Given the description of an element on the screen output the (x, y) to click on. 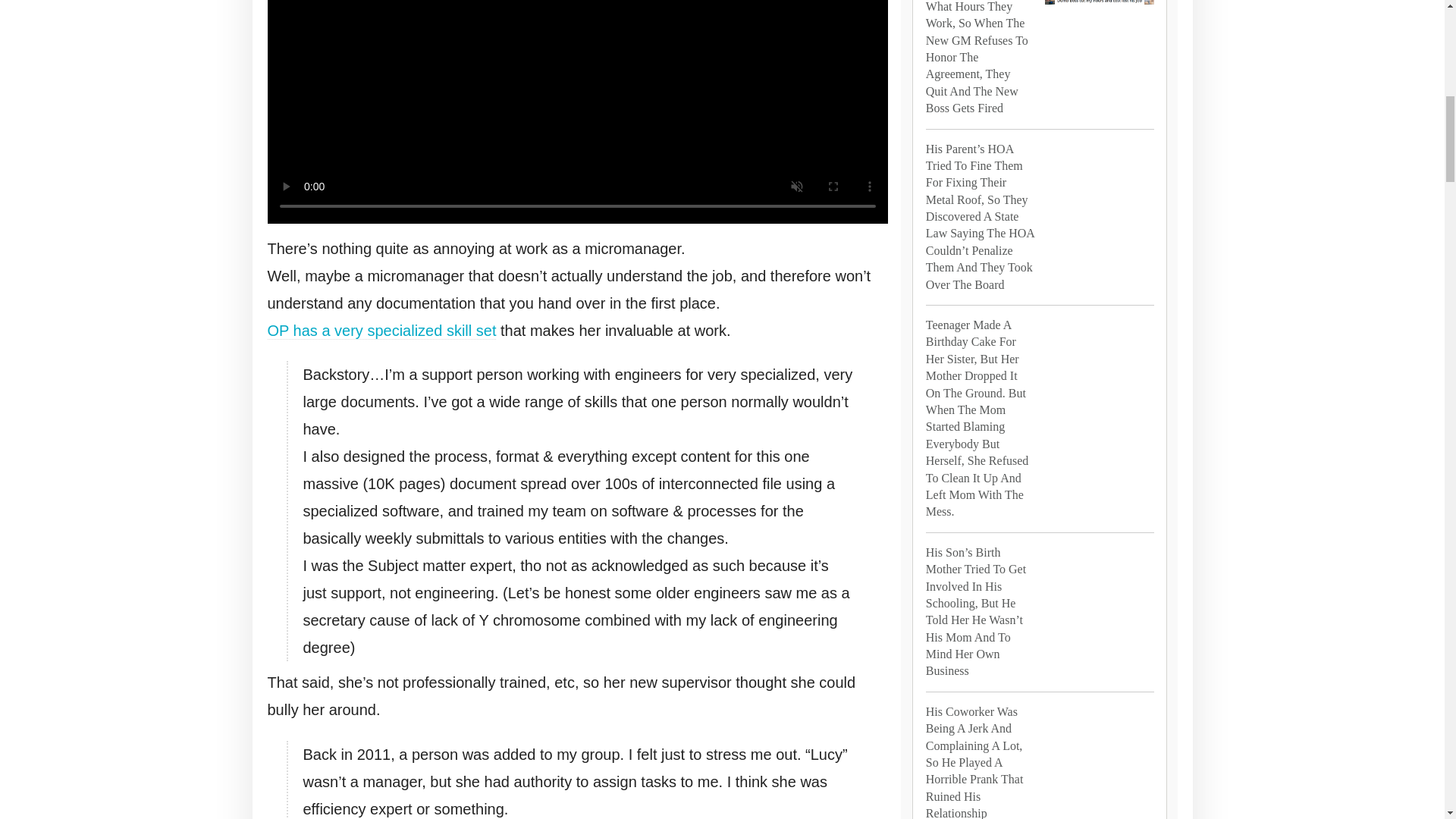
OP has a very specialized skill set (381, 330)
